Given the description of an element on the screen output the (x, y) to click on. 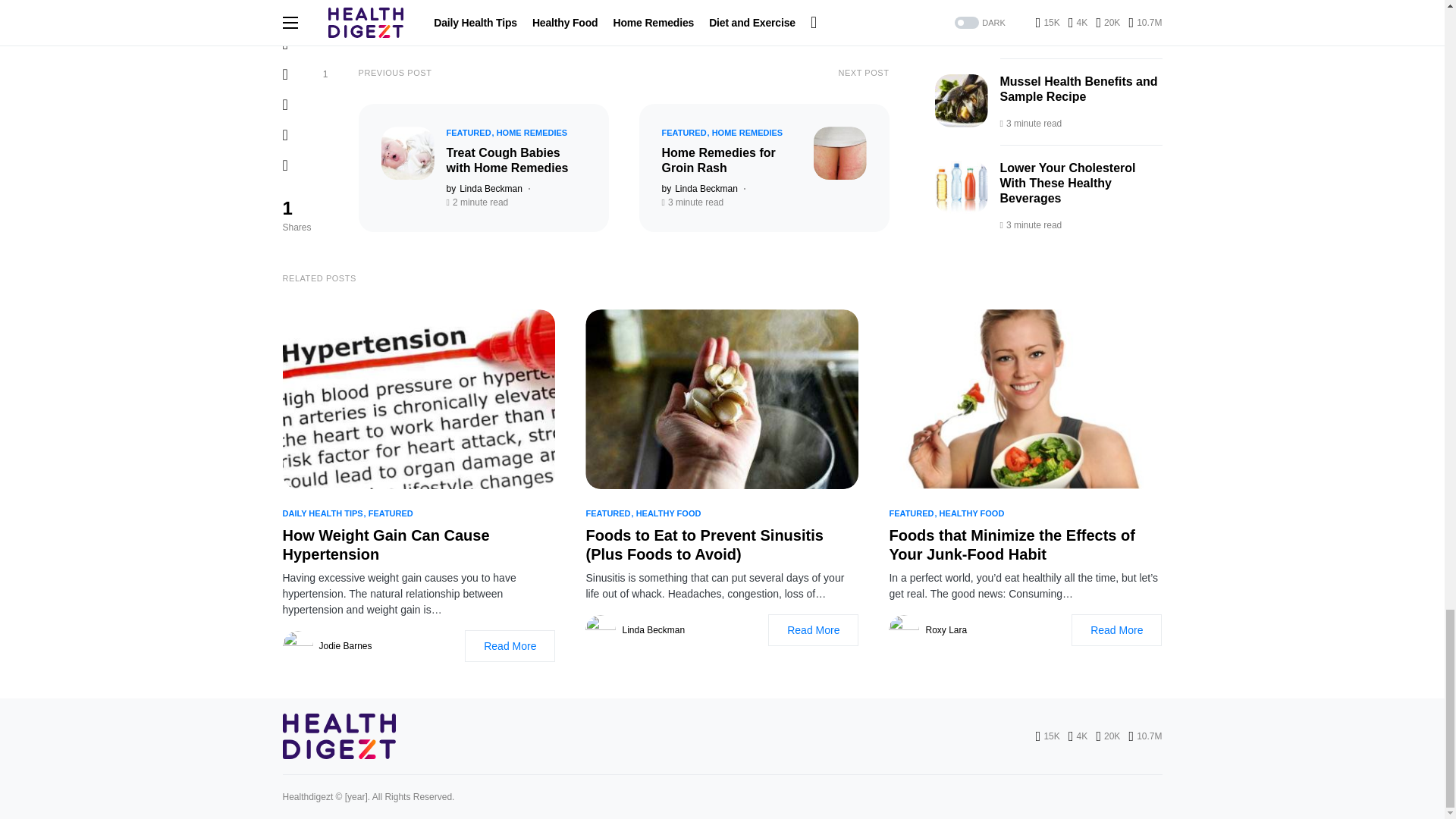
View all posts by Linda Beckman (698, 188)
View all posts by Linda Beckman (483, 188)
